Given the description of an element on the screen output the (x, y) to click on. 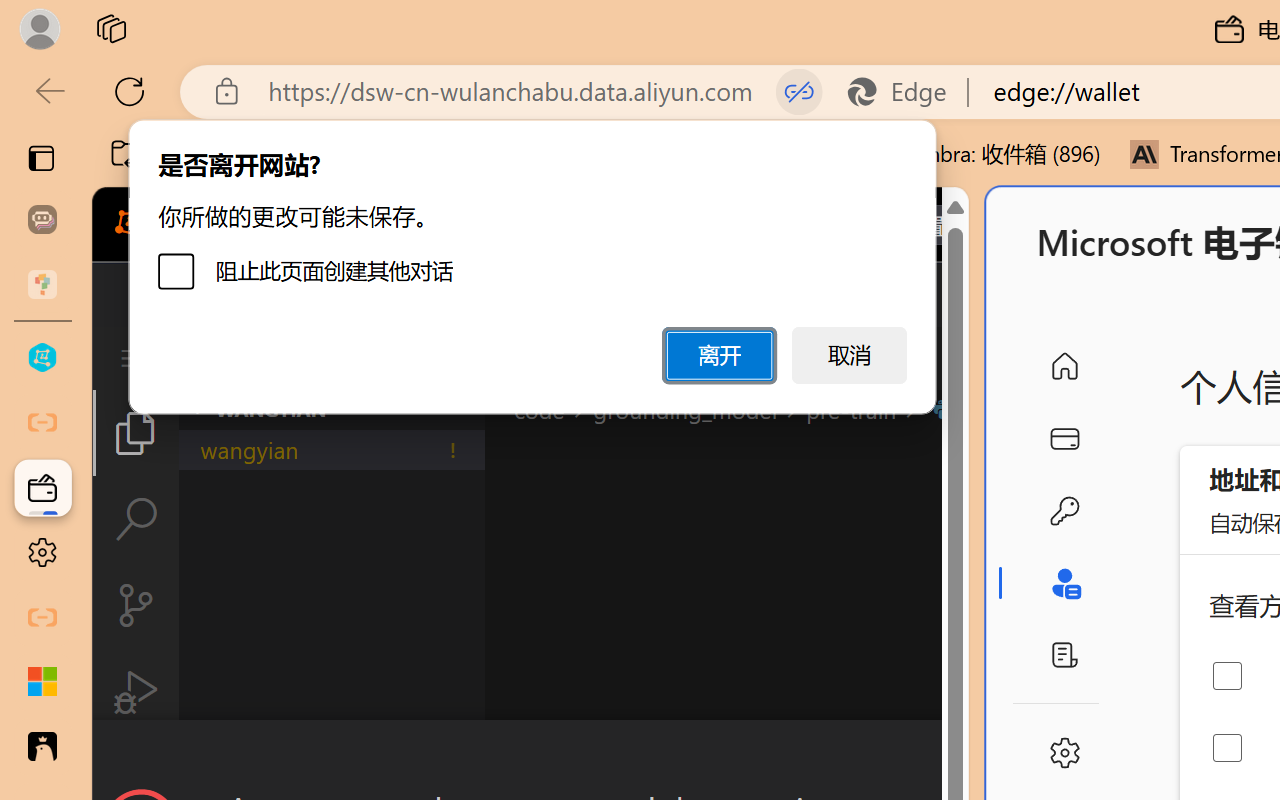
Class: actions-container (529, 756)
Close Dialog (959, 756)
Run and Debug (Ctrl+Shift+D) (135, 692)
Microsoft security help and learning (42, 681)
